Given the description of an element on the screen output the (x, y) to click on. 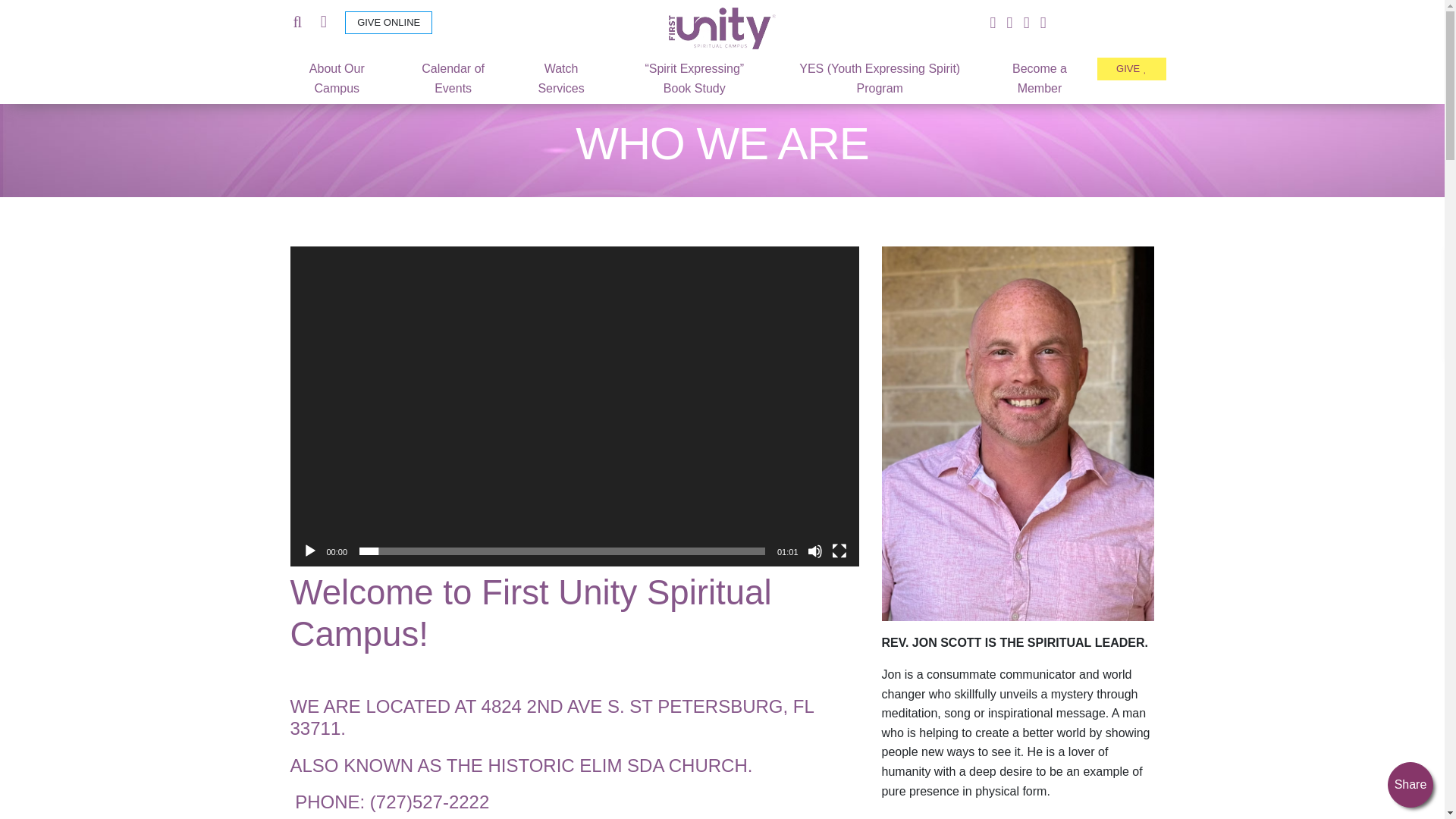
Watch Services (561, 78)
Fullscreen (838, 550)
Become a Member (1039, 78)
Calendar of Events (452, 78)
Instagram (1026, 23)
GIVE (1131, 68)
Mute (814, 550)
View your shopping cart  (323, 22)
Twitter (1009, 23)
YouTube (1042, 23)
Facebook (991, 23)
About Our Campus (337, 78)
GIVE ONLINE (388, 22)
First Unity Spiritual Campus (722, 28)
Share this article (1409, 784)
